Given the description of an element on the screen output the (x, y) to click on. 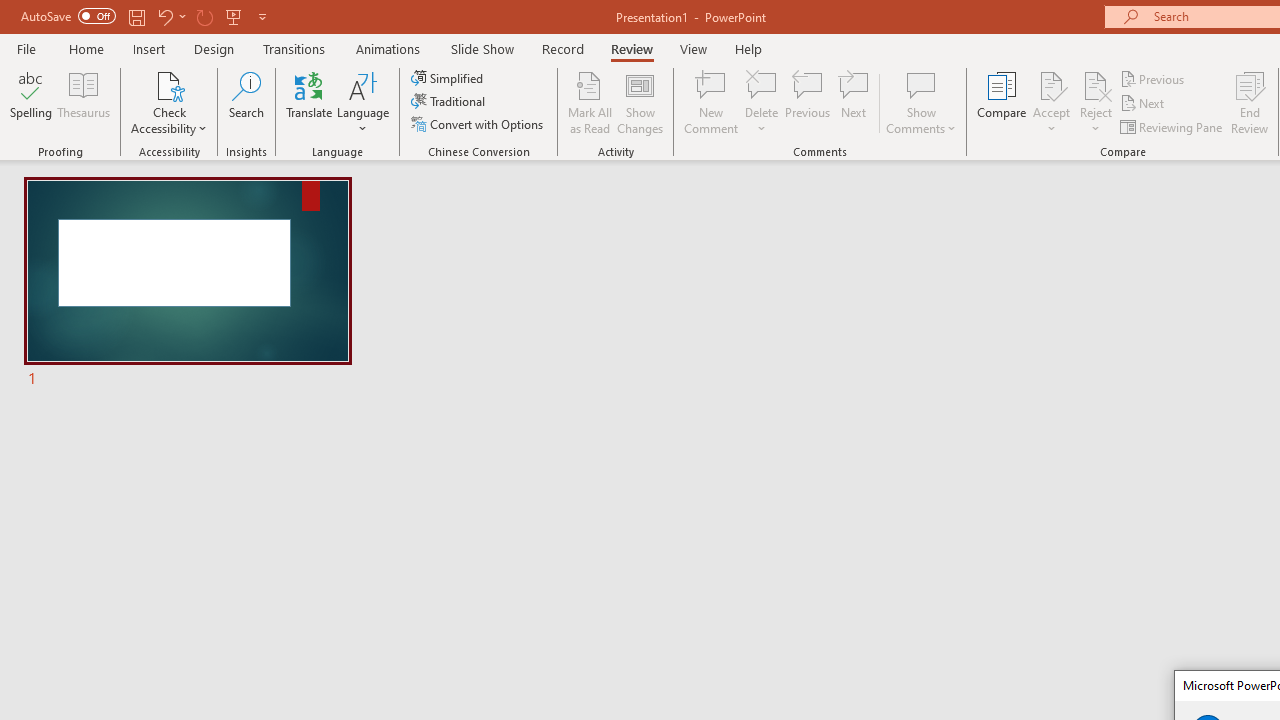
Mark All as Read (589, 102)
Reject Change (1096, 84)
Accept Change (1051, 84)
New Comment (711, 102)
Traditional (449, 101)
Simplified (449, 78)
